Given the description of an element on the screen output the (x, y) to click on. 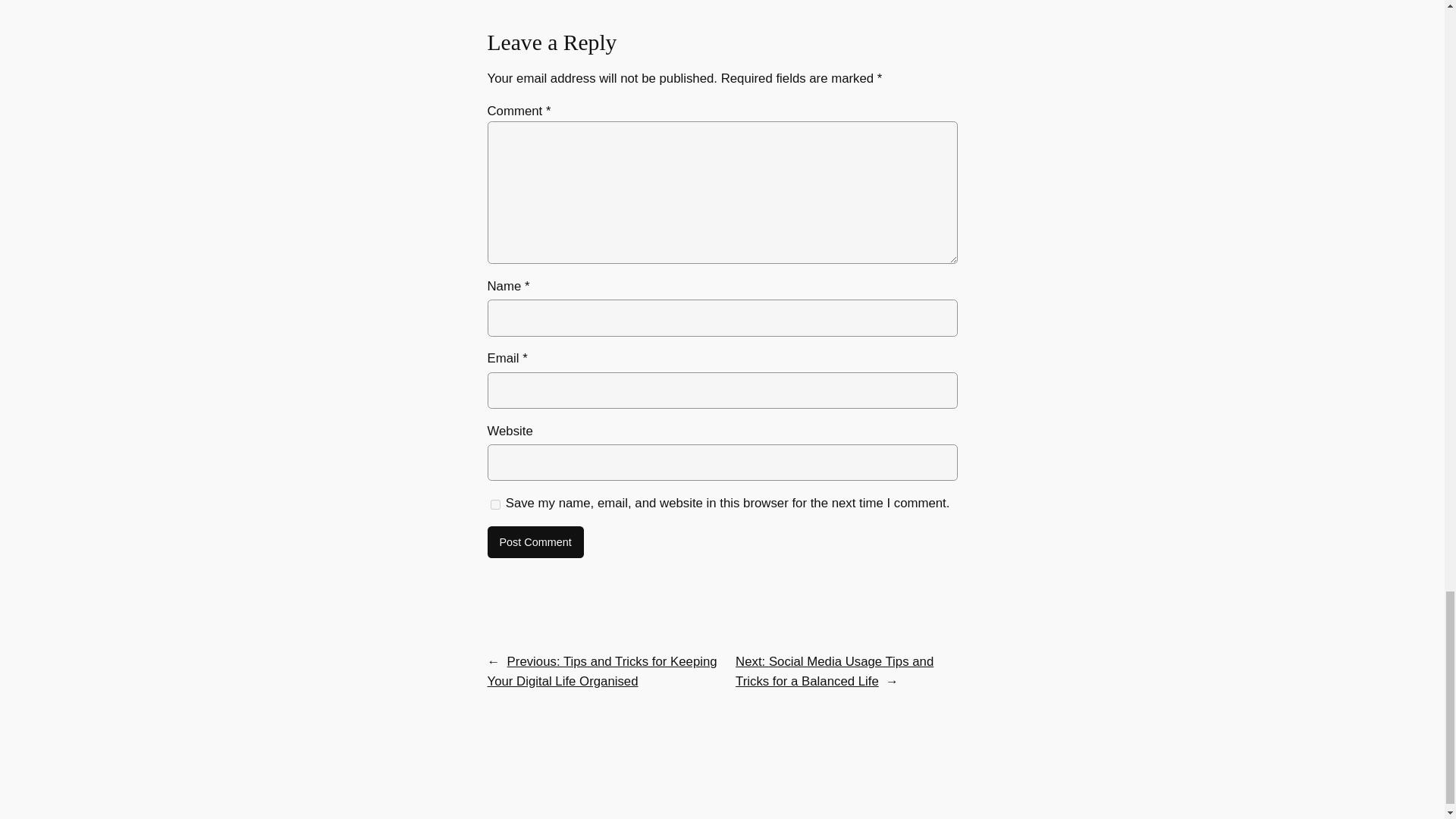
Next: Social Media Usage Tips and Tricks for a Balanced Life (834, 671)
Post Comment (534, 541)
Post Comment (534, 541)
